Given the description of an element on the screen output the (x, y) to click on. 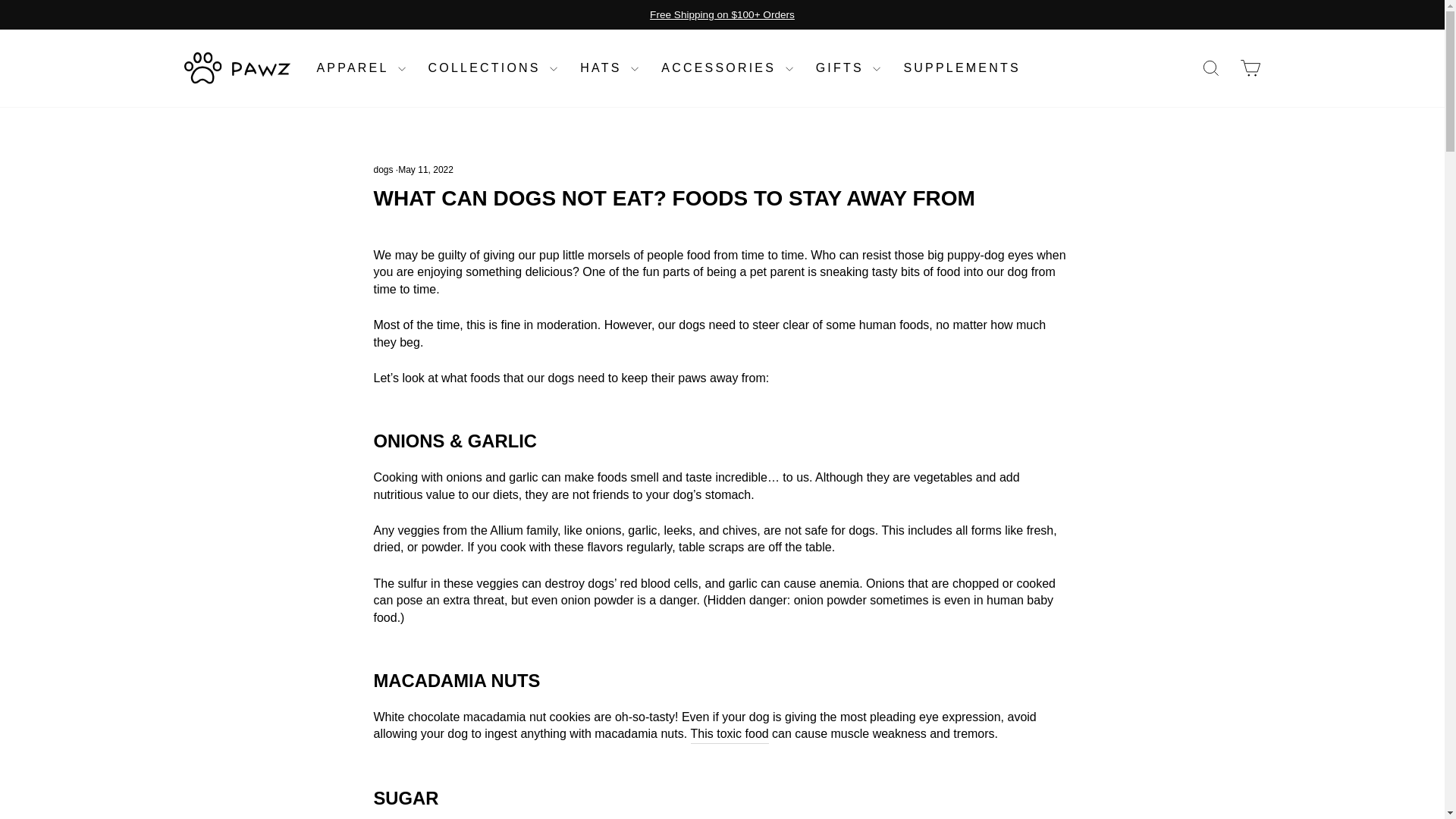
ICON-SEARCH (1210, 67)
